Given the description of an element on the screen output the (x, y) to click on. 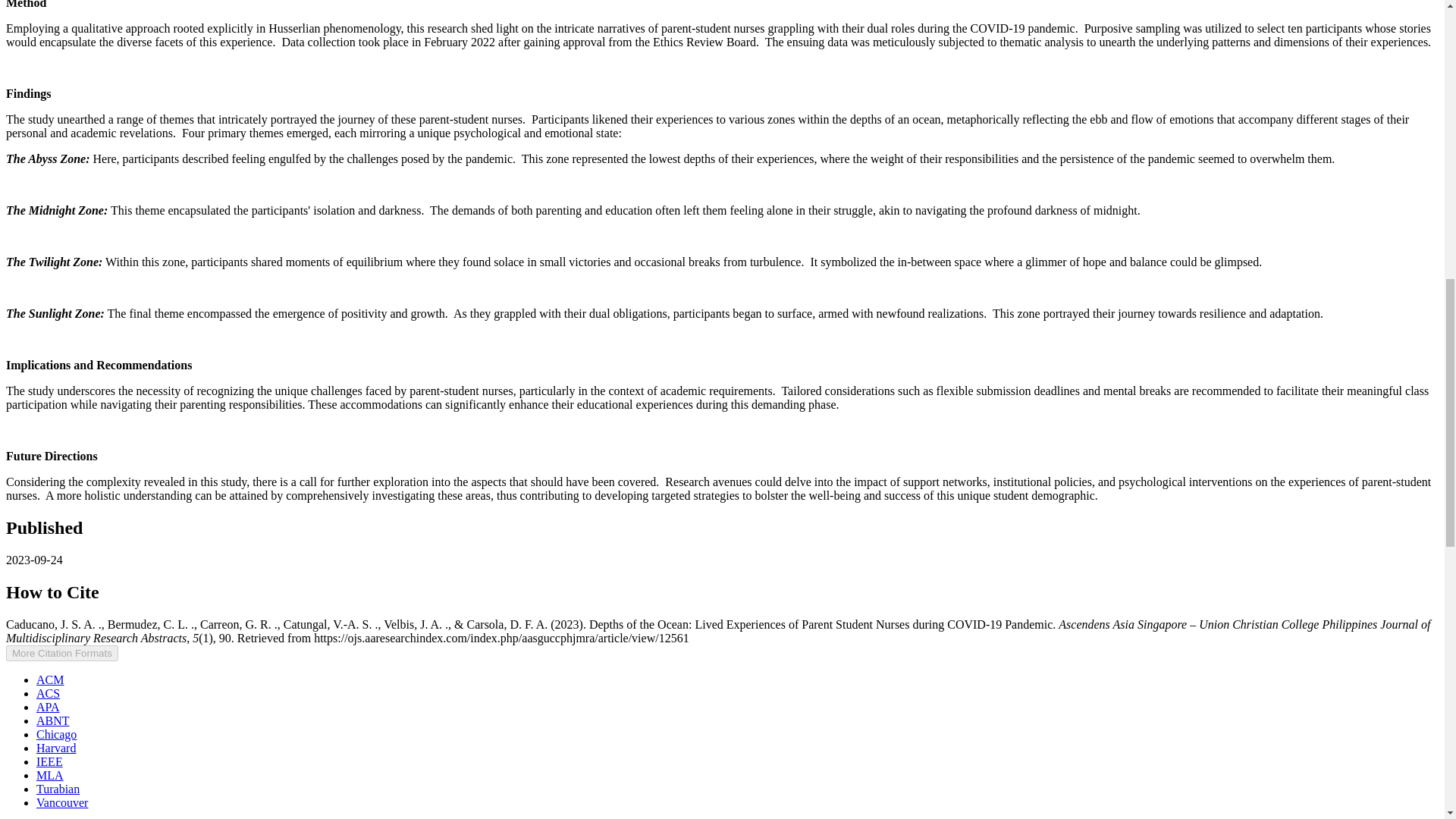
Turabian (58, 788)
ABNT (52, 720)
ACM (50, 679)
MLA (50, 775)
ACS (47, 693)
Vancouver (61, 802)
Harvard (55, 748)
APA (47, 707)
Chicago (56, 734)
IEEE (49, 761)
